Given the description of an element on the screen output the (x, y) to click on. 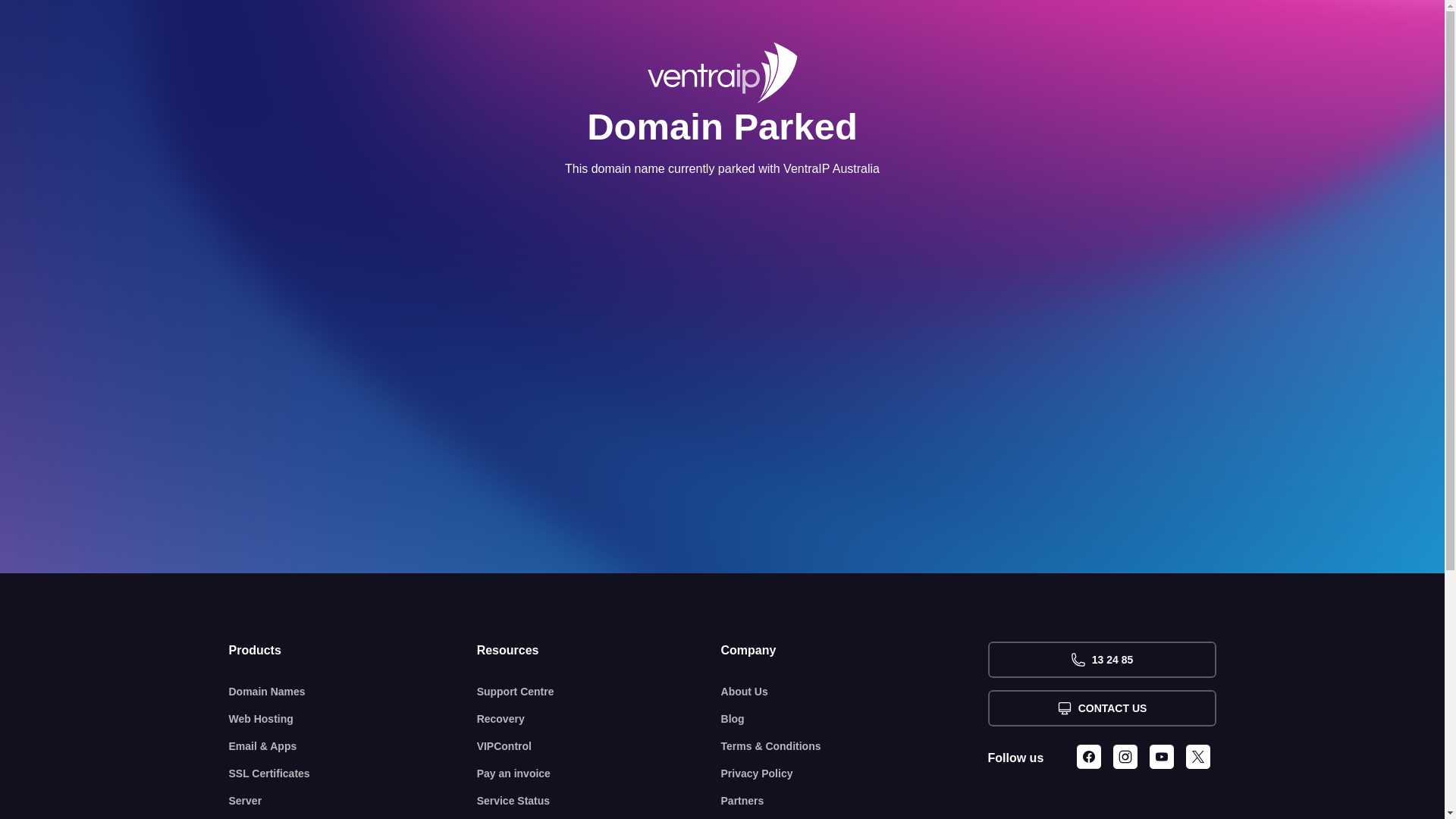
Privacy Policy Element type: text (854, 773)
Pay an invoice Element type: text (598, 773)
Web Hosting Element type: text (352, 718)
CONTACT US Element type: text (1101, 708)
VIPControl Element type: text (598, 745)
Terms & Conditions Element type: text (854, 745)
Service Status Element type: text (598, 800)
Support Centre Element type: text (598, 691)
Email & Apps Element type: text (352, 745)
About Us Element type: text (854, 691)
13 24 85 Element type: text (1101, 659)
SSL Certificates Element type: text (352, 773)
Domain Names Element type: text (352, 691)
Partners Element type: text (854, 800)
Blog Element type: text (854, 718)
Server Element type: text (352, 800)
Recovery Element type: text (598, 718)
